Given the description of an element on the screen output the (x, y) to click on. 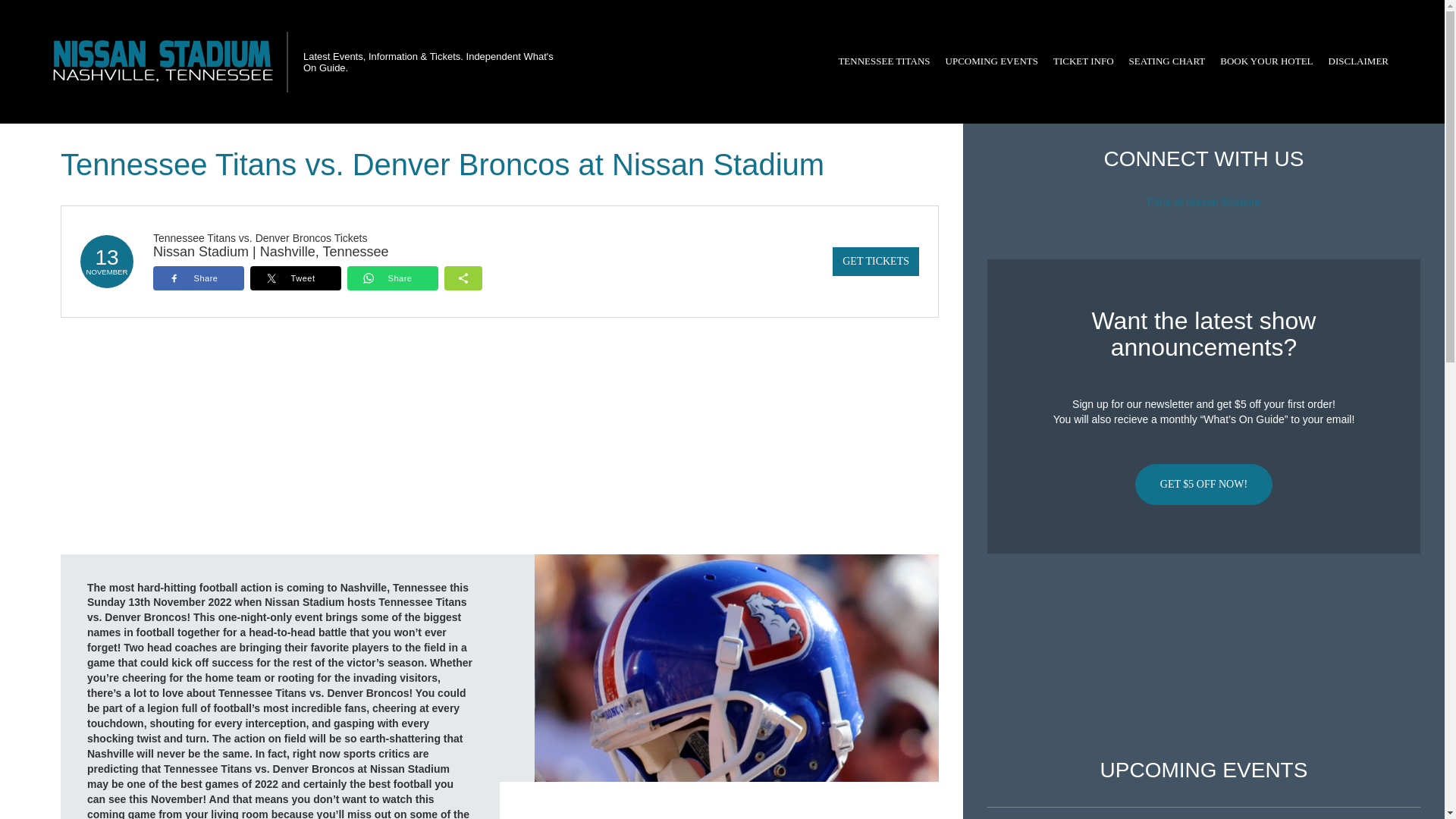
DISCLAIMER (1358, 61)
BOOK YOUR HOTEL (1266, 61)
TENNESSEE TITANS (883, 61)
SEATING CHART (1166, 61)
TICKET INFO (1083, 61)
UPCOMING EVENTS (991, 61)
Advertisement (1204, 655)
GET TICKETS (875, 261)
Tennessee Titans vs. Denver Broncos Tickets (259, 237)
Tennessee Titans vs. Denver Broncos at Nissan Stadium (736, 667)
Fans of Nissan Stadium (1203, 202)
